Given the description of an element on the screen output the (x, y) to click on. 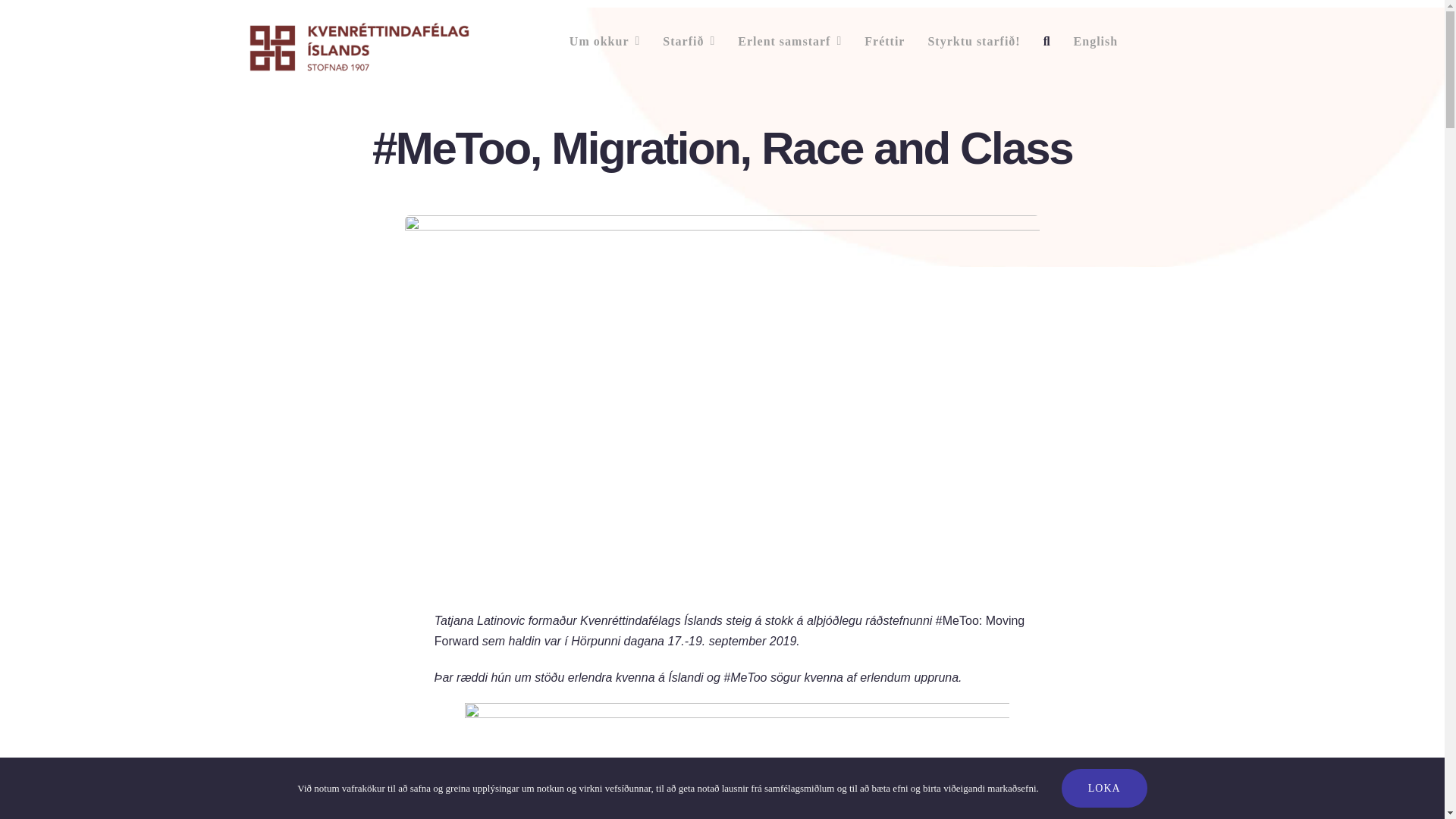
Um okkur (604, 41)
English (1096, 41)
